Given the description of an element on the screen output the (x, y) to click on. 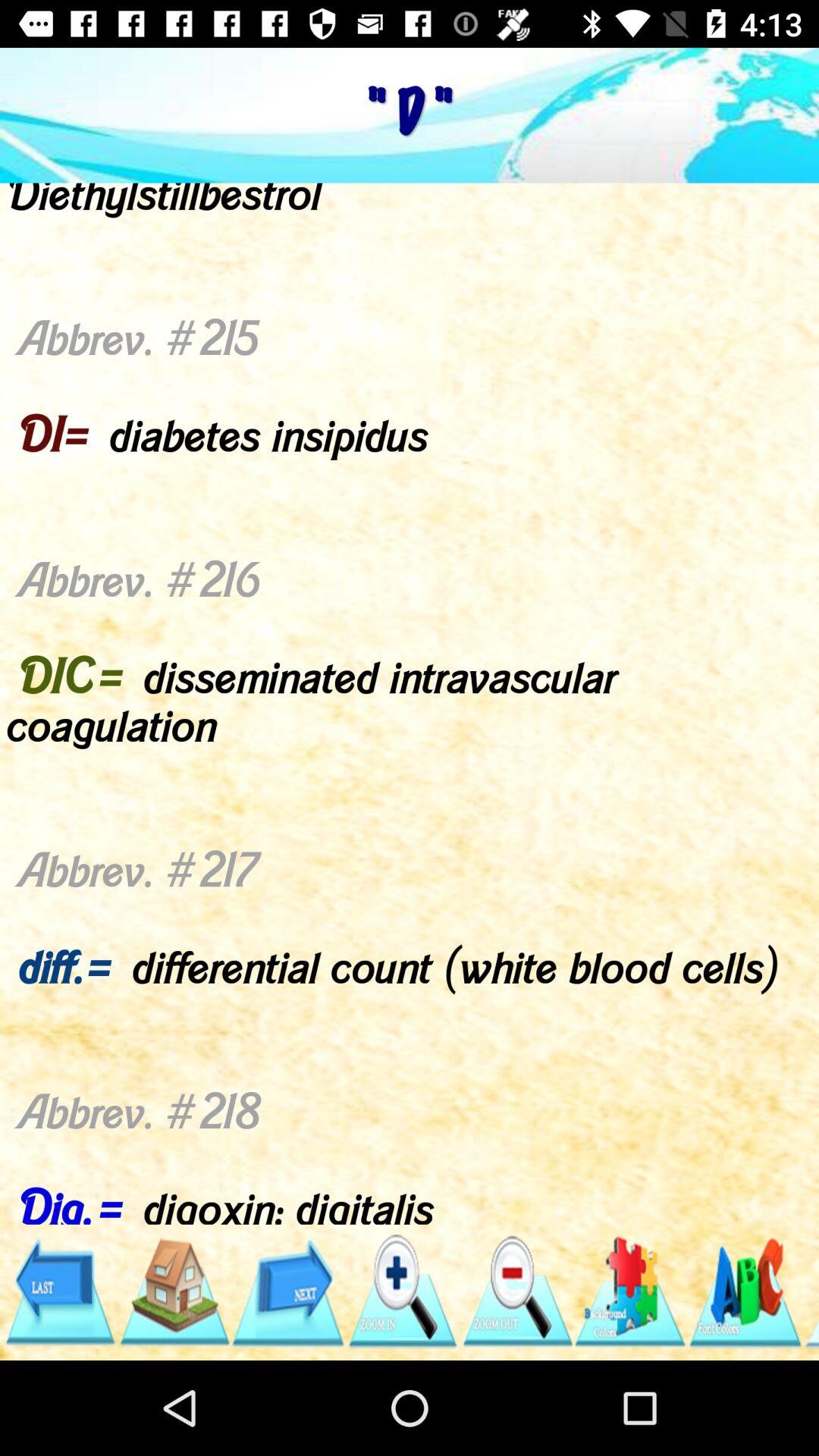
open icon below abbrev 	209	 	d item (516, 1291)
